Given the description of an element on the screen output the (x, y) to click on. 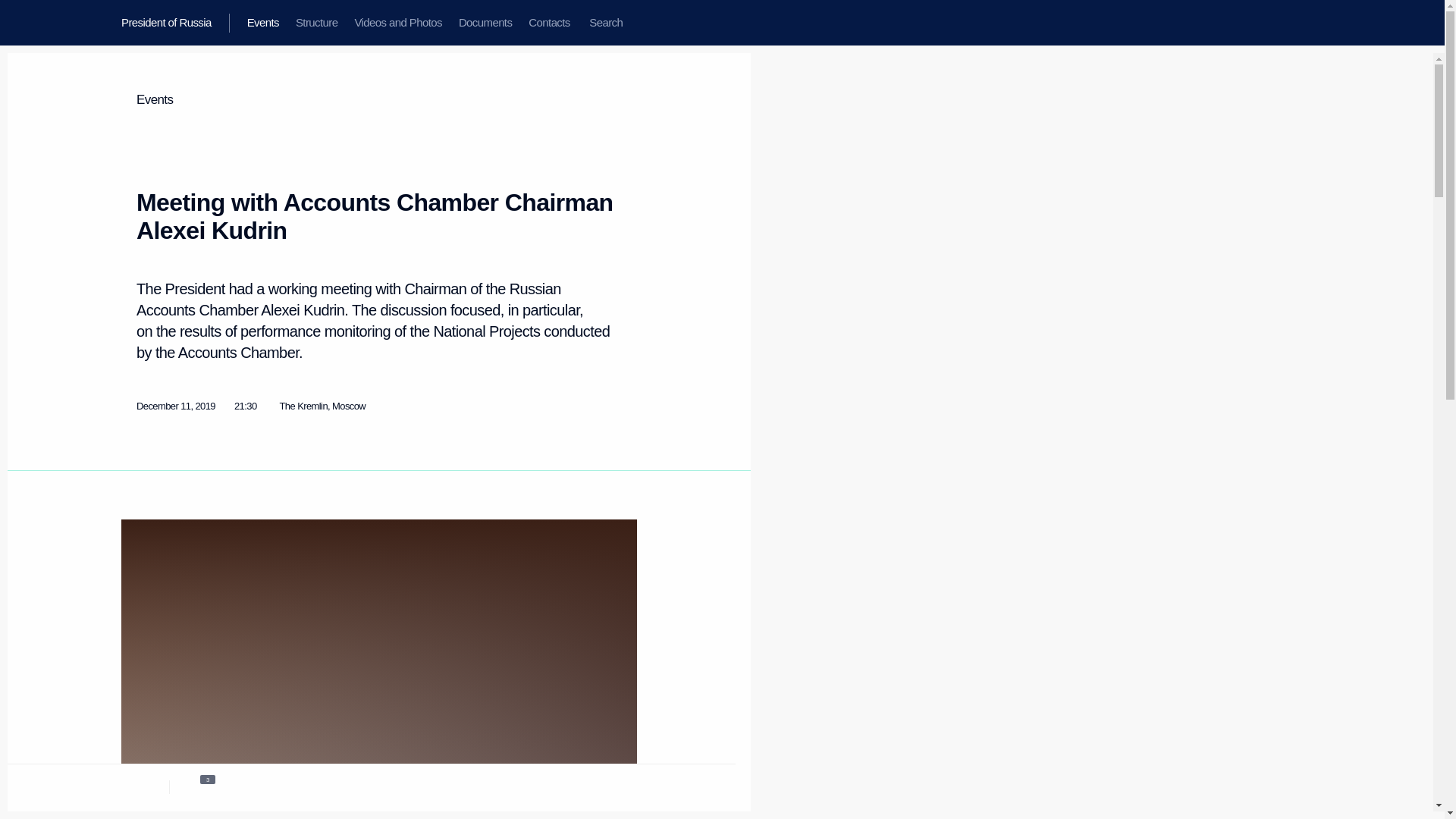
Structure (316, 22)
Search (605, 22)
Videos and Photos (397, 22)
Events (154, 99)
Contacts (548, 22)
Share (593, 784)
President of Russia (175, 22)
Documents (484, 22)
Events (262, 22)
Global website search (605, 22)
Photo (200, 786)
Text (137, 786)
